Given the description of an element on the screen output the (x, y) to click on. 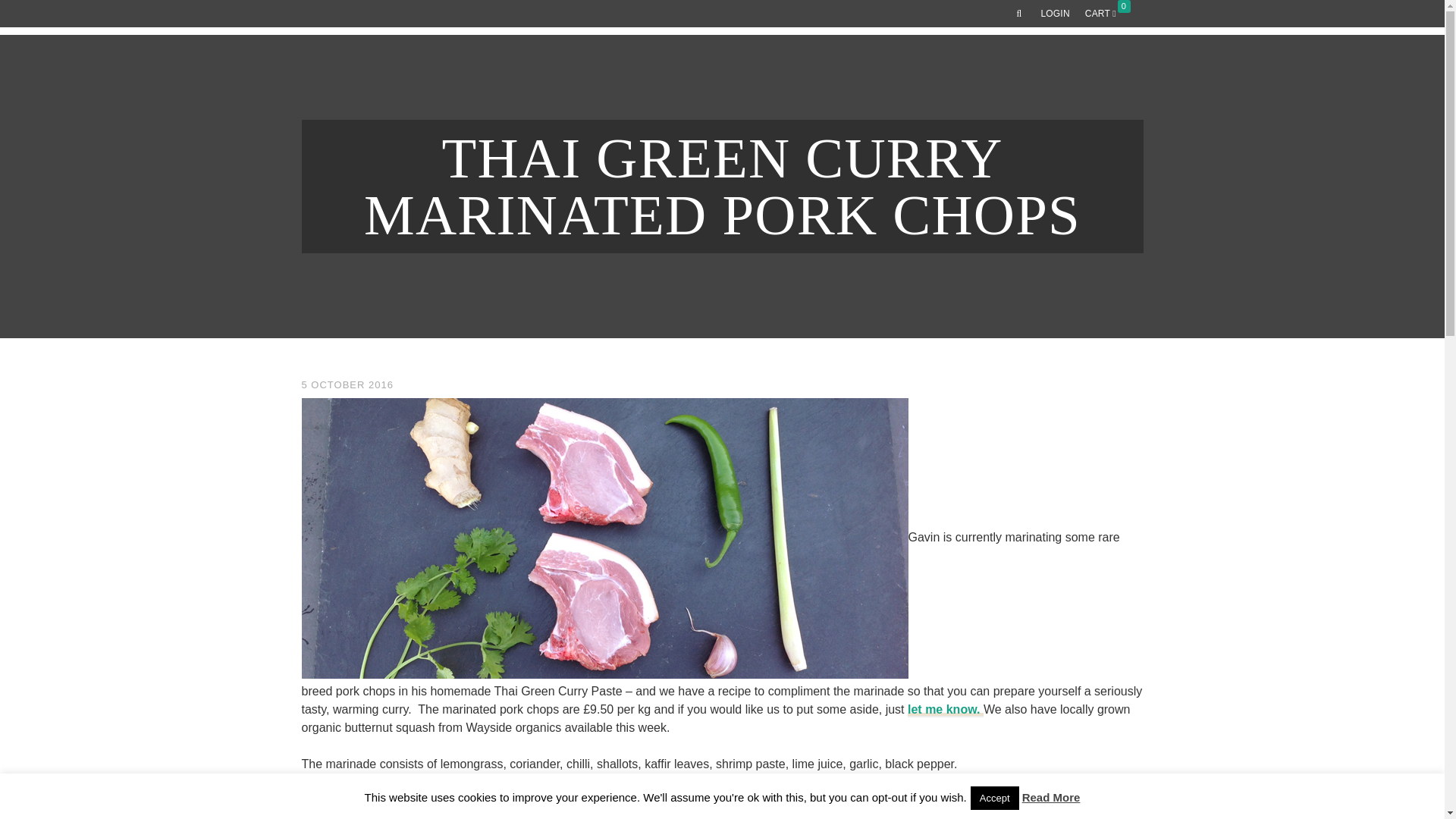
THE FARM SHOP (673, 68)
let me know. (945, 709)
BLOG (1054, 68)
SHOP ONLINE (772, 68)
HOME (593, 68)
LOGIN (1054, 13)
CART 0 (1109, 13)
CONTACT (1109, 68)
BIG GREEN EGG (863, 68)
